Given the description of an element on the screen output the (x, y) to click on. 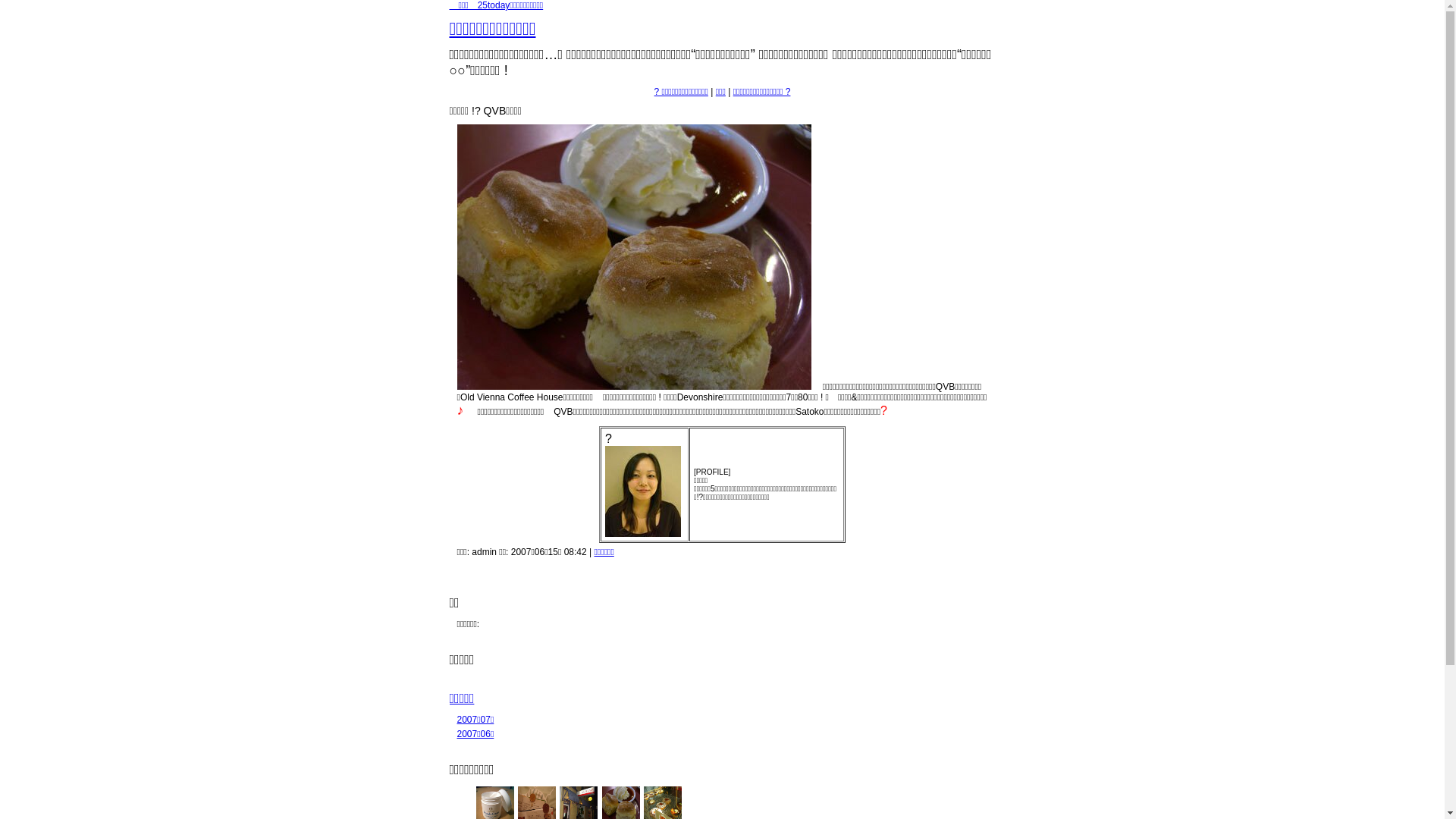
Innocent Element type: hover (593, 399)
Surprised Element type: hover (543, 414)
